Given the description of an element on the screen output the (x, y) to click on. 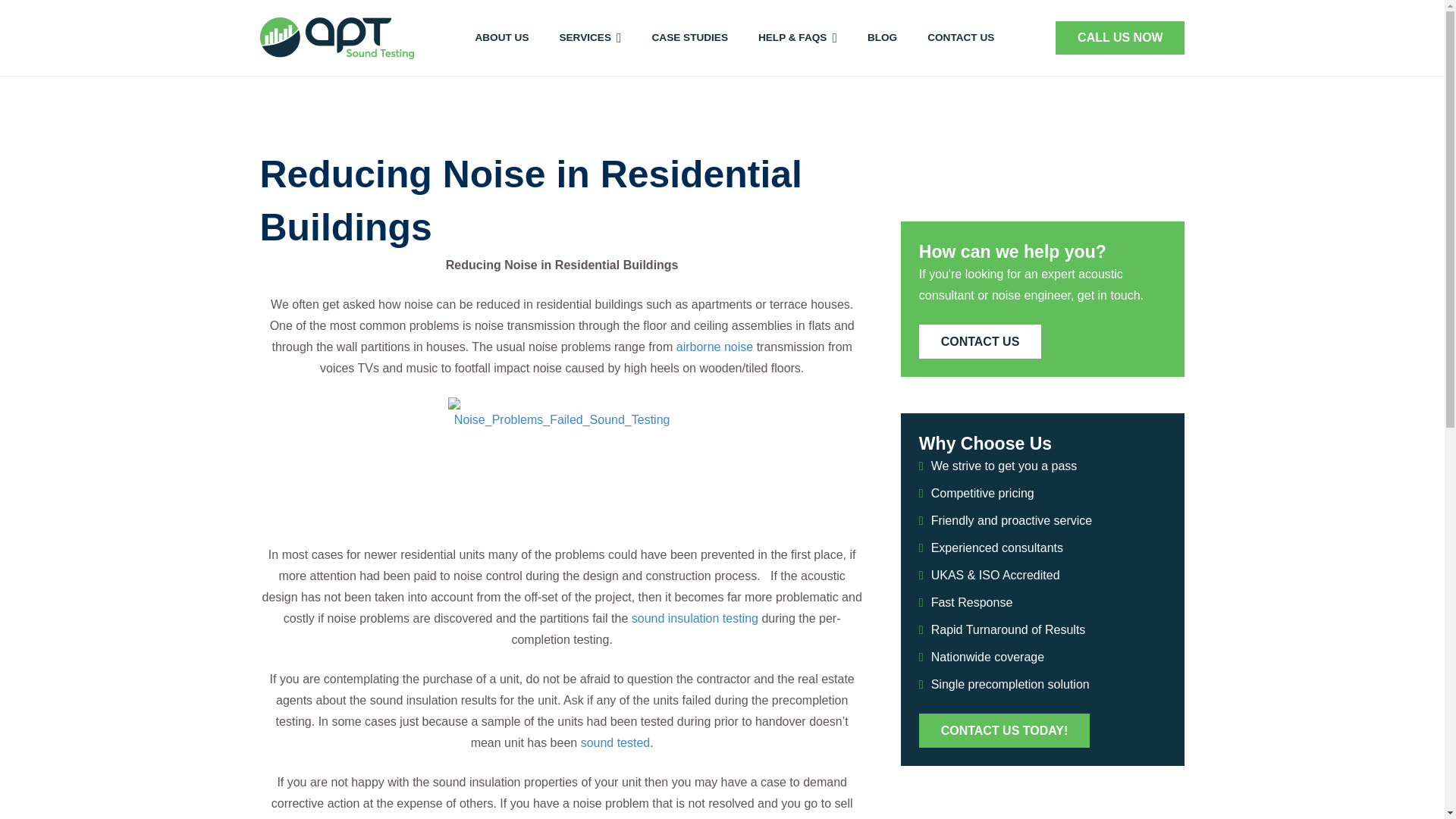
CASE STUDIES (689, 38)
CALL US NOW (1120, 38)
CONTACT US (960, 38)
sound insulation testing (694, 617)
SERVICES (589, 38)
ABOUT US (501, 38)
airborne noise (714, 346)
